Given the description of an element on the screen output the (x, y) to click on. 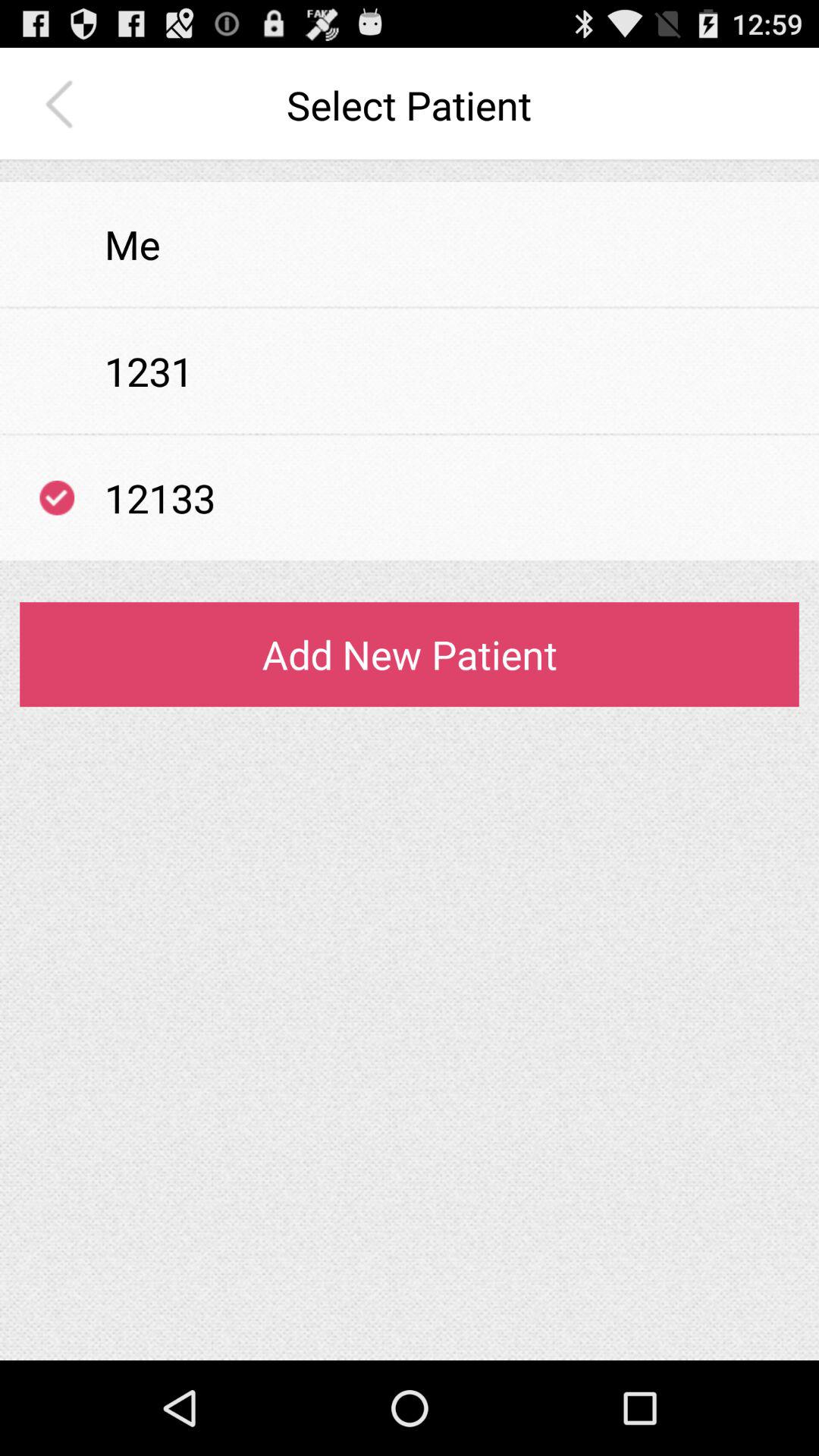
turn on the app next to the select patient (63, 104)
